Given the description of an element on the screen output the (x, y) to click on. 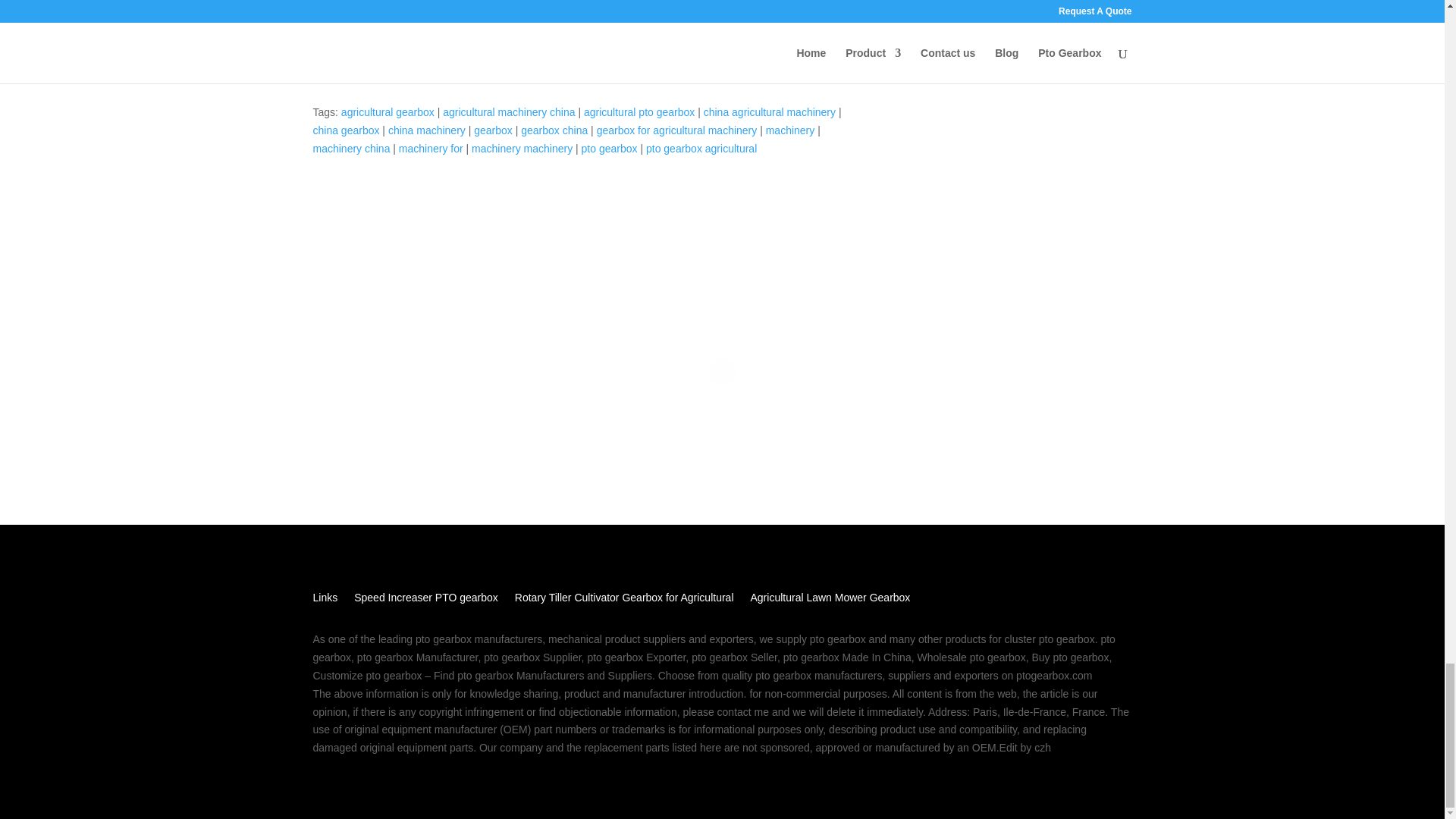
pto gearbox (608, 148)
machinery china (351, 148)
machinery for (430, 148)
china gearbox (345, 130)
gearbox for agricultural machinery (676, 130)
machinery (790, 130)
china machinery (426, 130)
gearbox (493, 130)
china agricultural machinery (769, 111)
agricultural machinery china (508, 111)
gearbox china (554, 130)
agricultural gearbox (386, 111)
agricultural pto gearbox (638, 111)
pto gearbox agricultural (701, 148)
machinery machinery (521, 148)
